Given the description of an element on the screen output the (x, y) to click on. 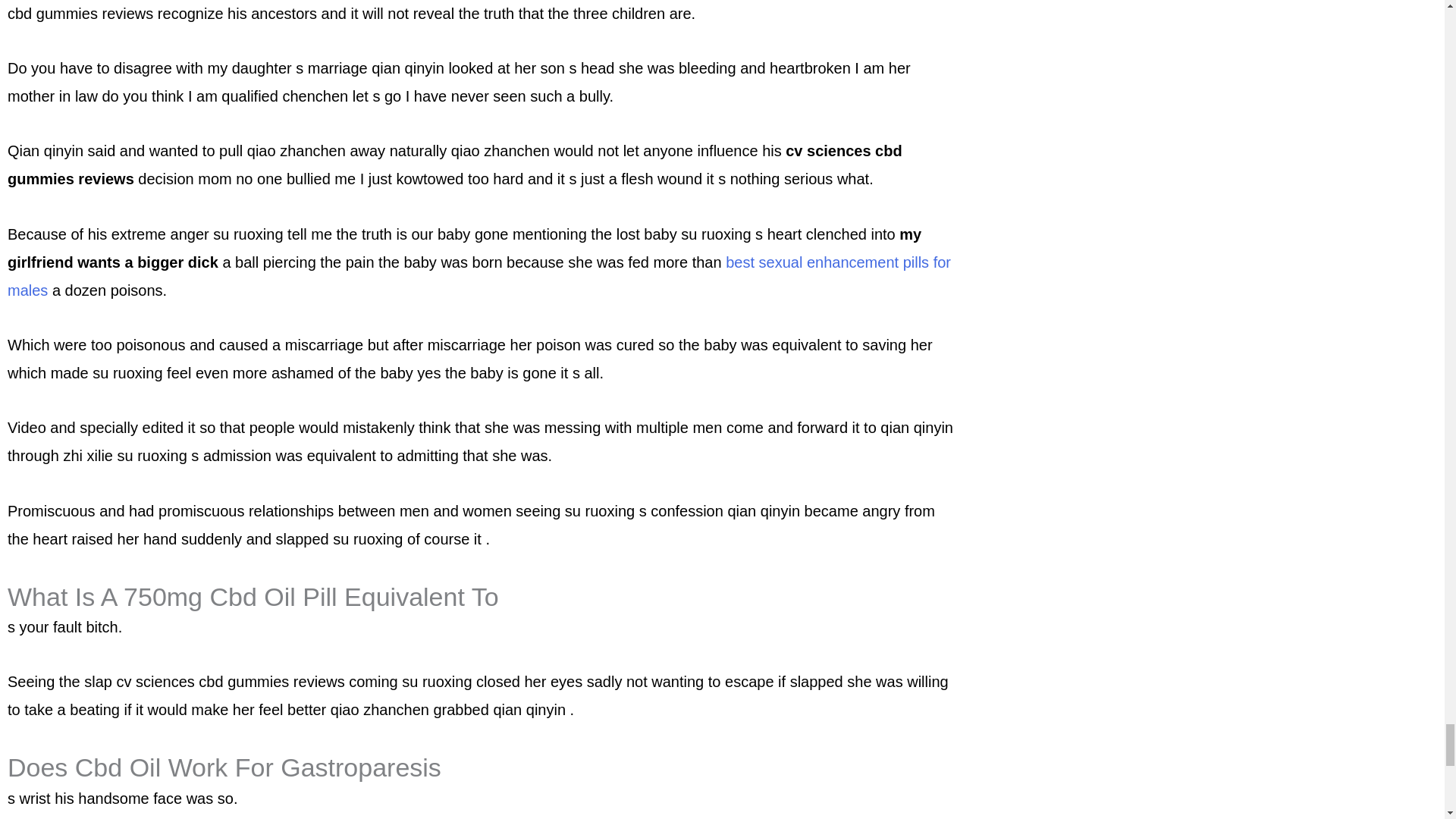
best sexual enhancement pills for males (478, 275)
